Given the description of an element on the screen output the (x, y) to click on. 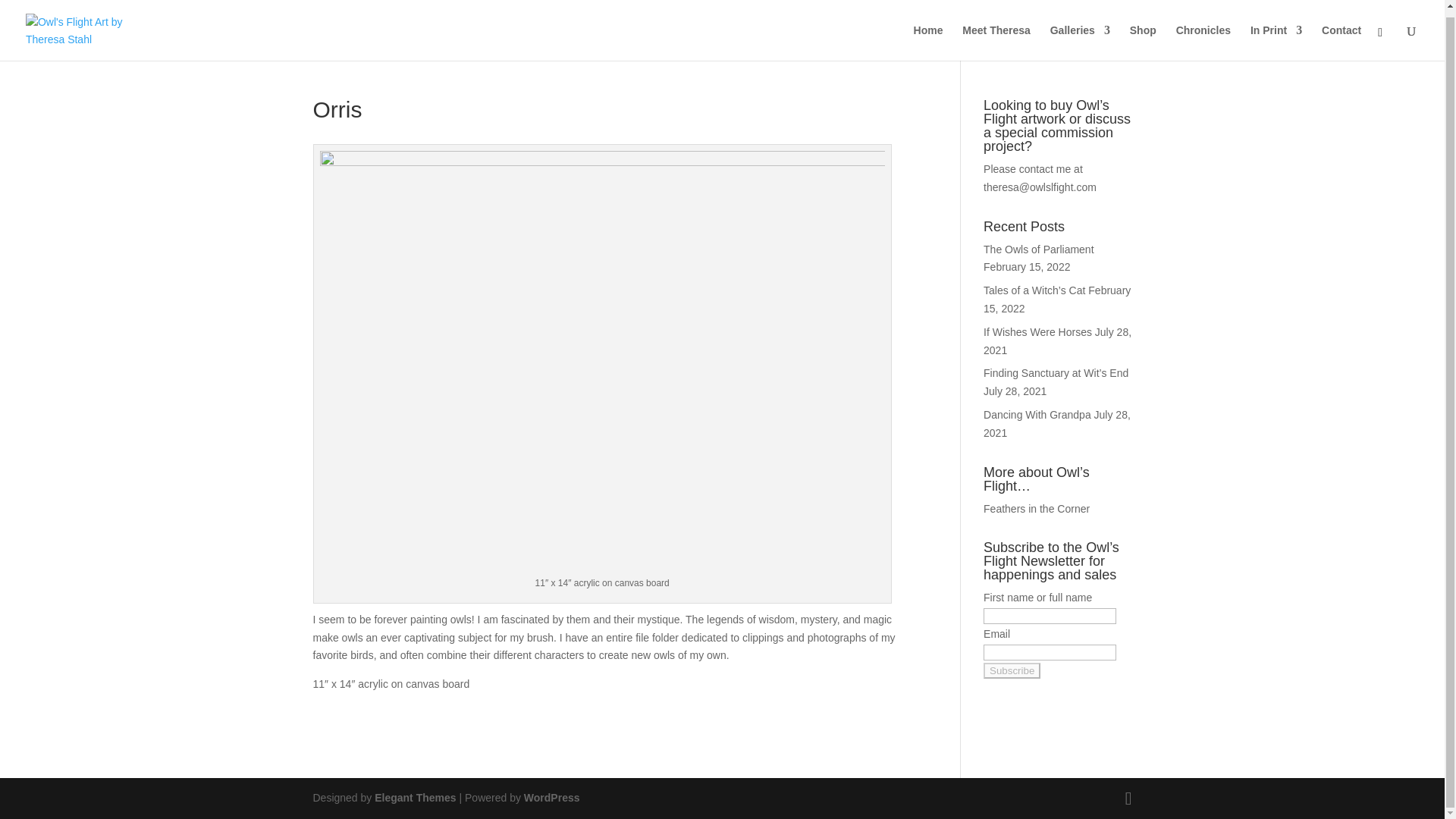
If Wishes Were Horses (1038, 331)
WordPress (551, 797)
Contact (1341, 36)
Subscribe (1012, 670)
Meet Theresa (995, 36)
In Print (1275, 36)
Dancing With Grandpa (1037, 414)
Chronicles (1203, 36)
Elegant Themes (414, 797)
Subscribe (1012, 670)
